Given the description of an element on the screen output the (x, y) to click on. 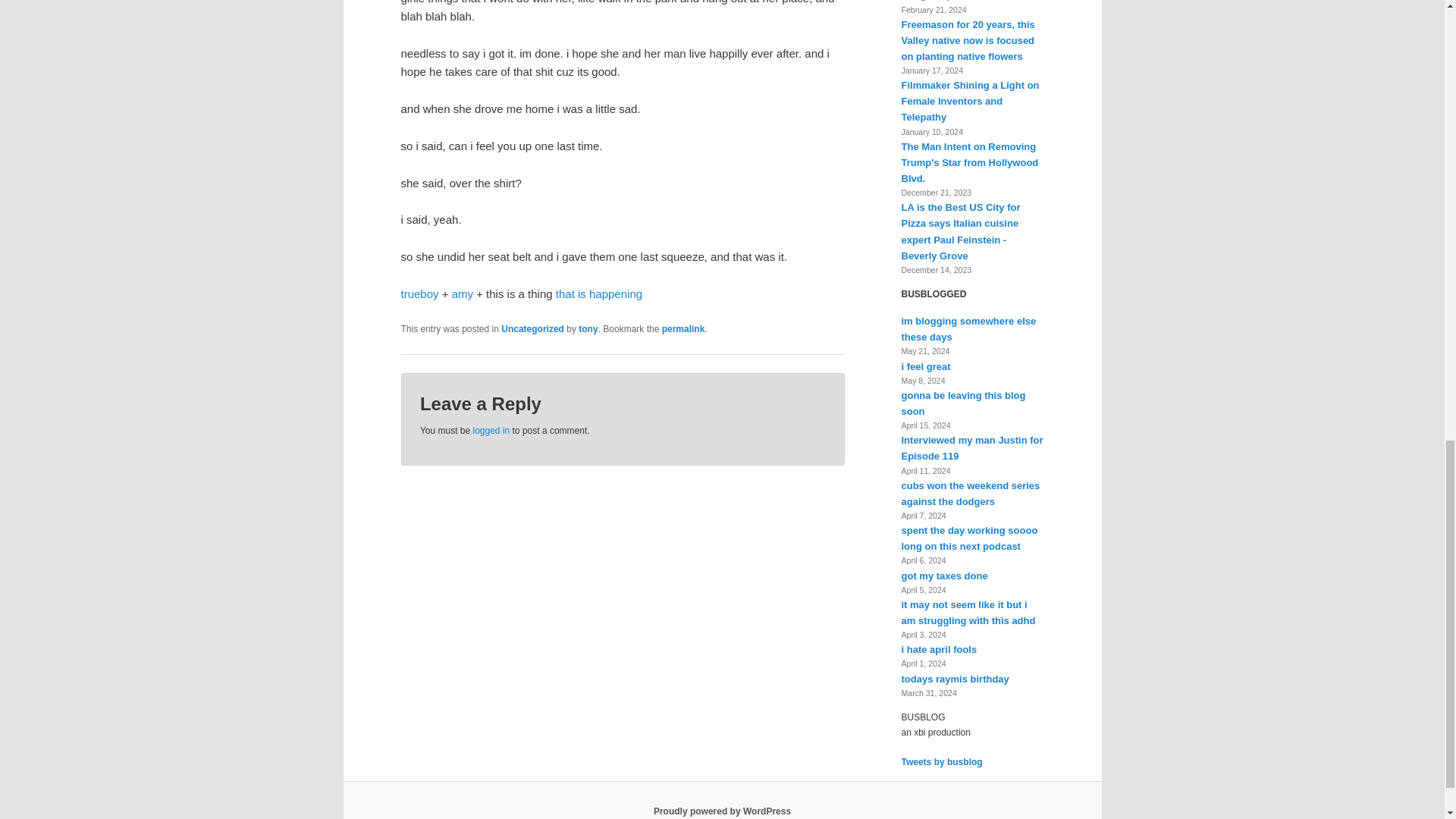
amy (462, 293)
permalink (683, 328)
Permalink to do you know that tsar is playing tonight? (683, 328)
that is happening (599, 293)
Uncategorized (532, 328)
Semantic Personal Publishing Platform (721, 810)
tony (587, 328)
trueboy (419, 293)
logged in (490, 430)
